Given the description of an element on the screen output the (x, y) to click on. 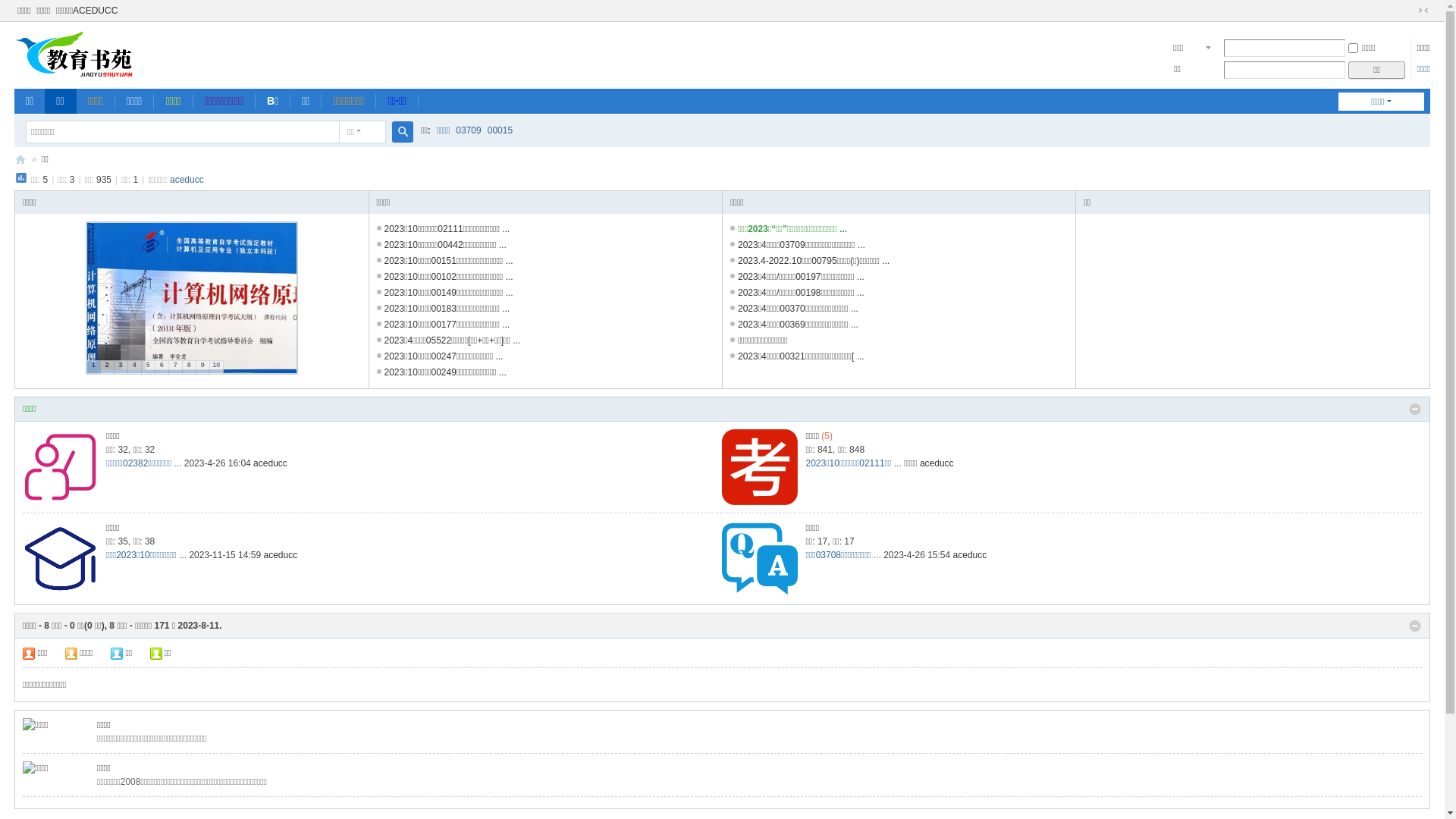
03709 Element type: text (467, 130)
aceducc Element type: text (936, 463)
true Element type: text (402, 131)
aceducc Element type: text (280, 554)
aceducc Element type: text (186, 179)
aceducc Element type: text (270, 463)
00015 Element type: text (499, 130)
aceducc Element type: text (970, 554)
